Given the description of an element on the screen output the (x, y) to click on. 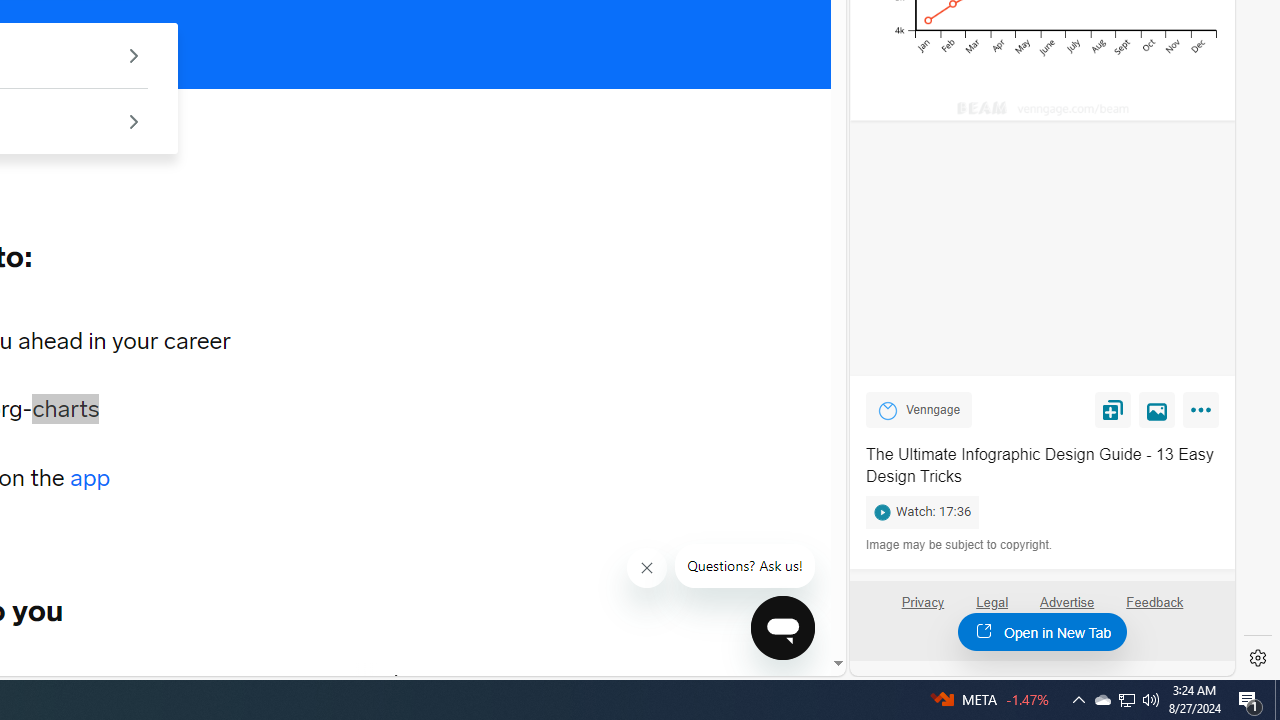
Open messaging window (783, 628)
